Given the description of an element on the screen output the (x, y) to click on. 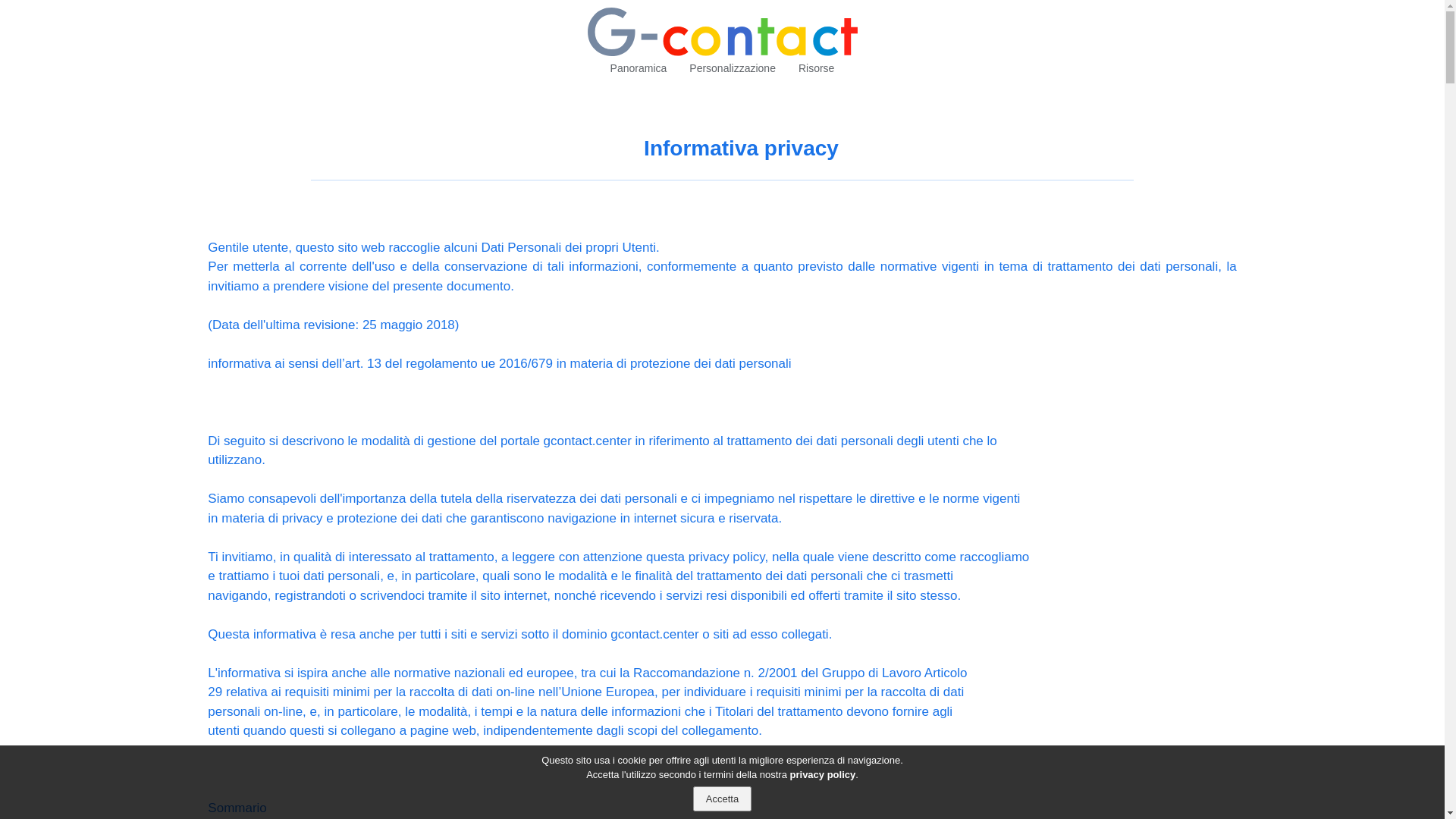
Accetta Element type: text (722, 798)
Panoramica Element type: text (638, 68)
Risorse Element type: text (816, 68)
privacy policy Element type: text (823, 774)
Personalizzazione Element type: text (732, 68)
